Given the description of an element on the screen output the (x, y) to click on. 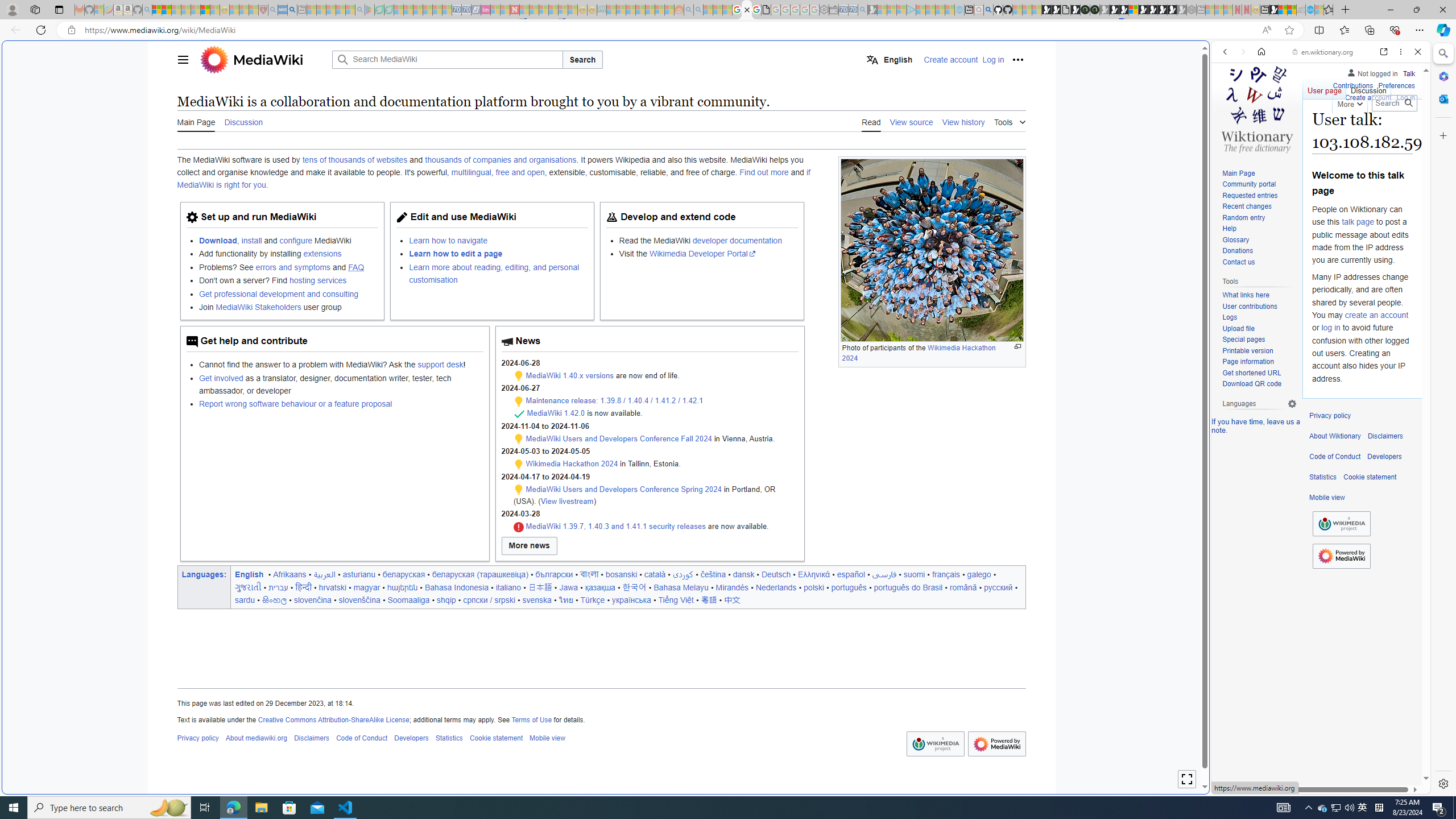
Search or enter web address (922, 108)
Disclaimers (1385, 436)
MediaWiki Users and Developers Conference Fall 2024 (618, 438)
